Given the description of an element on the screen output the (x, y) to click on. 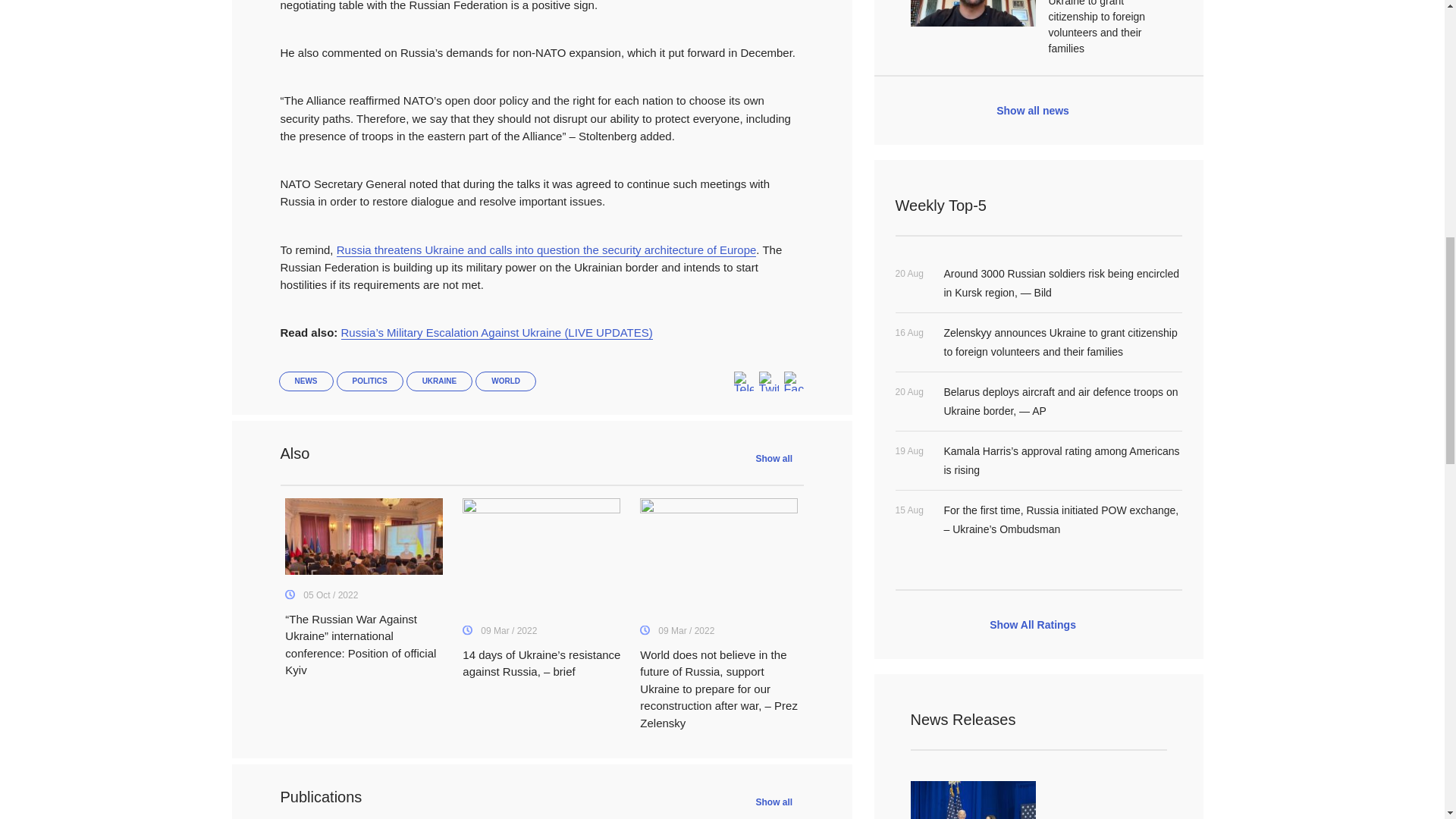
POLITICS (369, 381)
Twitter (767, 382)
NEWS (306, 381)
UKRAINE (439, 381)
Telegram (743, 382)
WORLD (505, 381)
Facebook (793, 382)
